Given the description of an element on the screen output the (x, y) to click on. 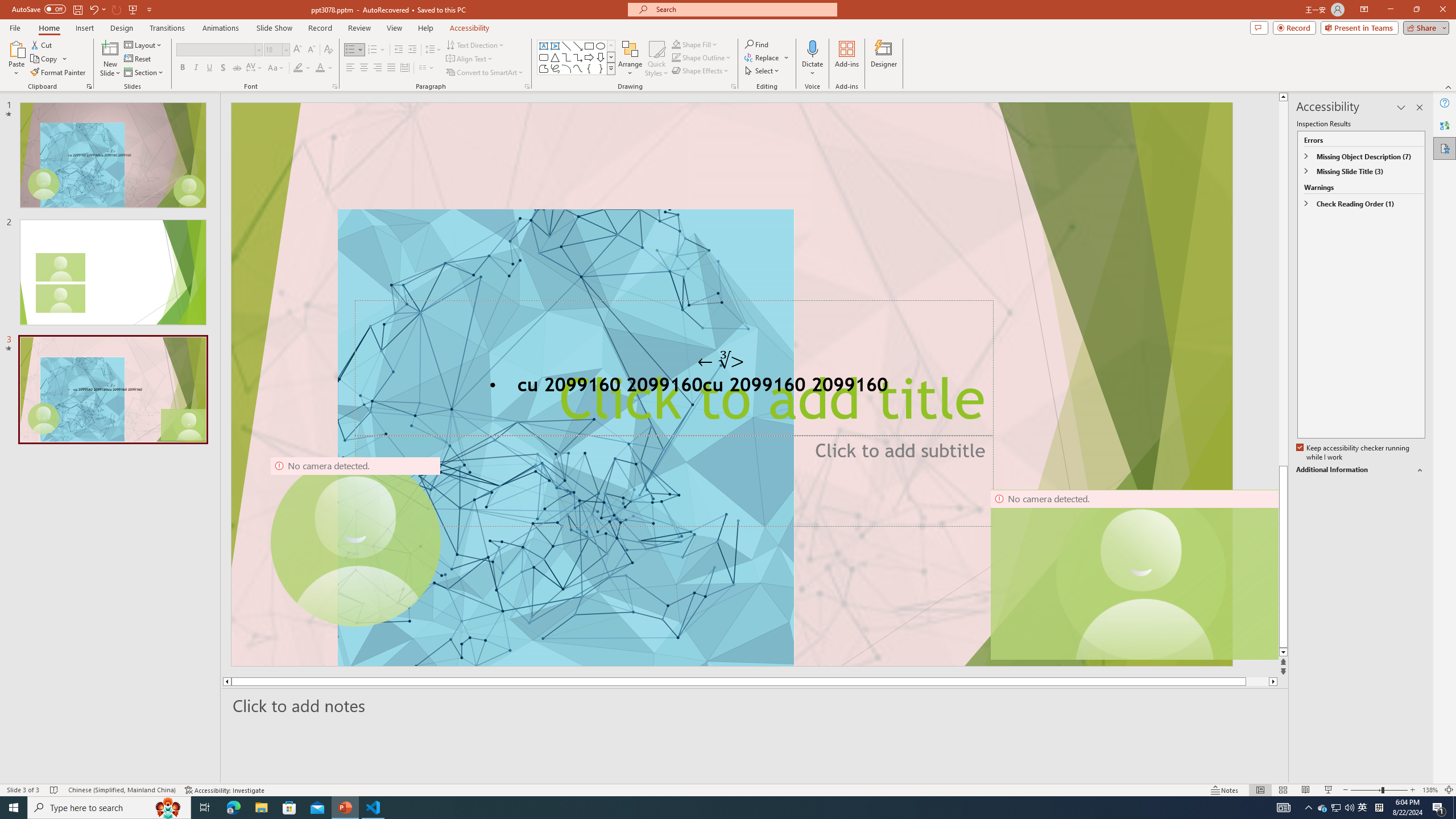
Camera 9, No camera detected. (355, 542)
